Given the description of an element on the screen output the (x, y) to click on. 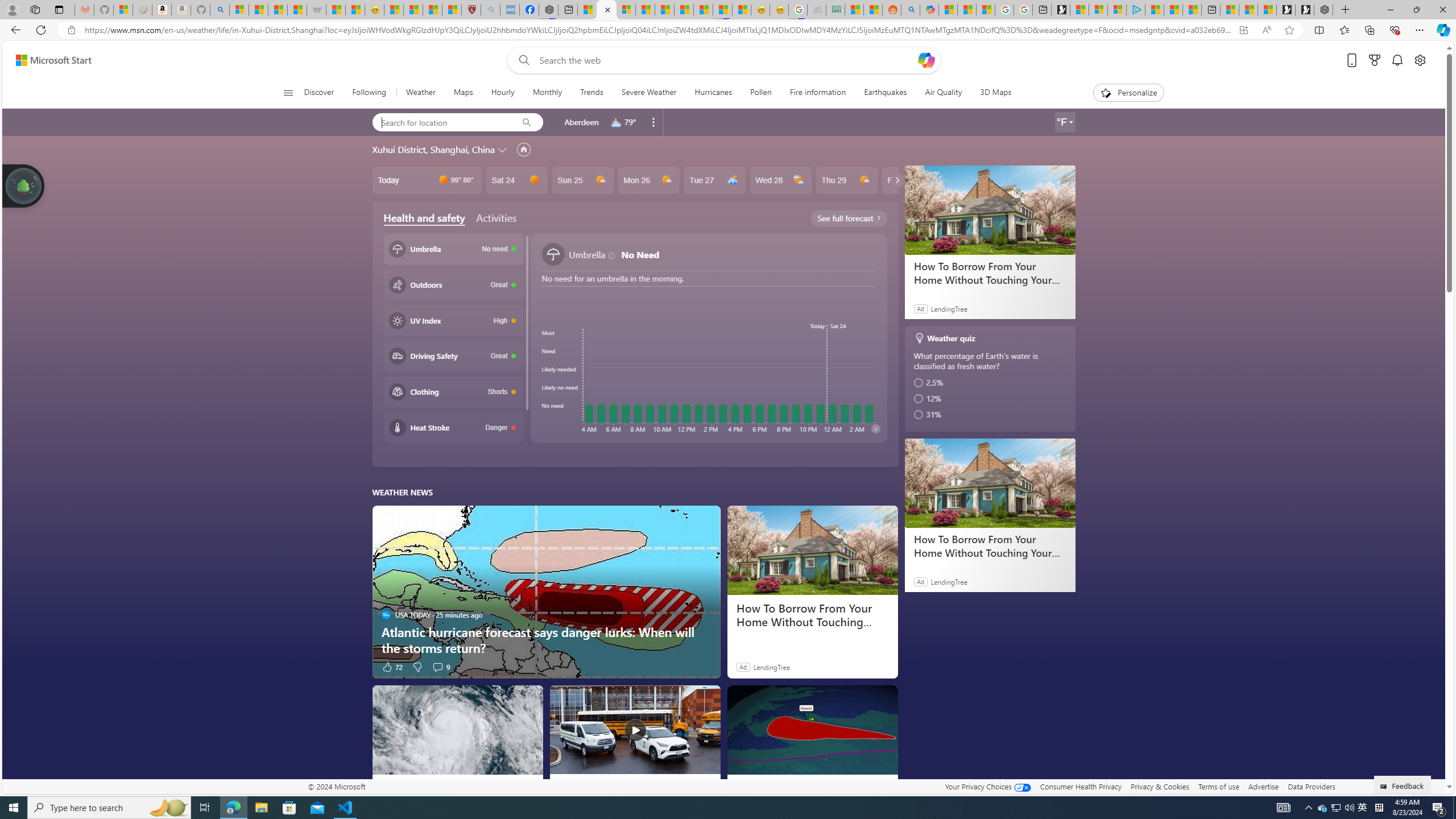
Monthly (547, 92)
Sun 25 (581, 180)
Health and safety (423, 218)
Air Quality (943, 92)
Fri 30 (911, 180)
Class: feedback_link_icon-DS-EntryPoint1-1 (1384, 786)
Trends (591, 92)
Maps (462, 92)
Remove location (653, 122)
